Given the description of an element on the screen output the (x, y) to click on. 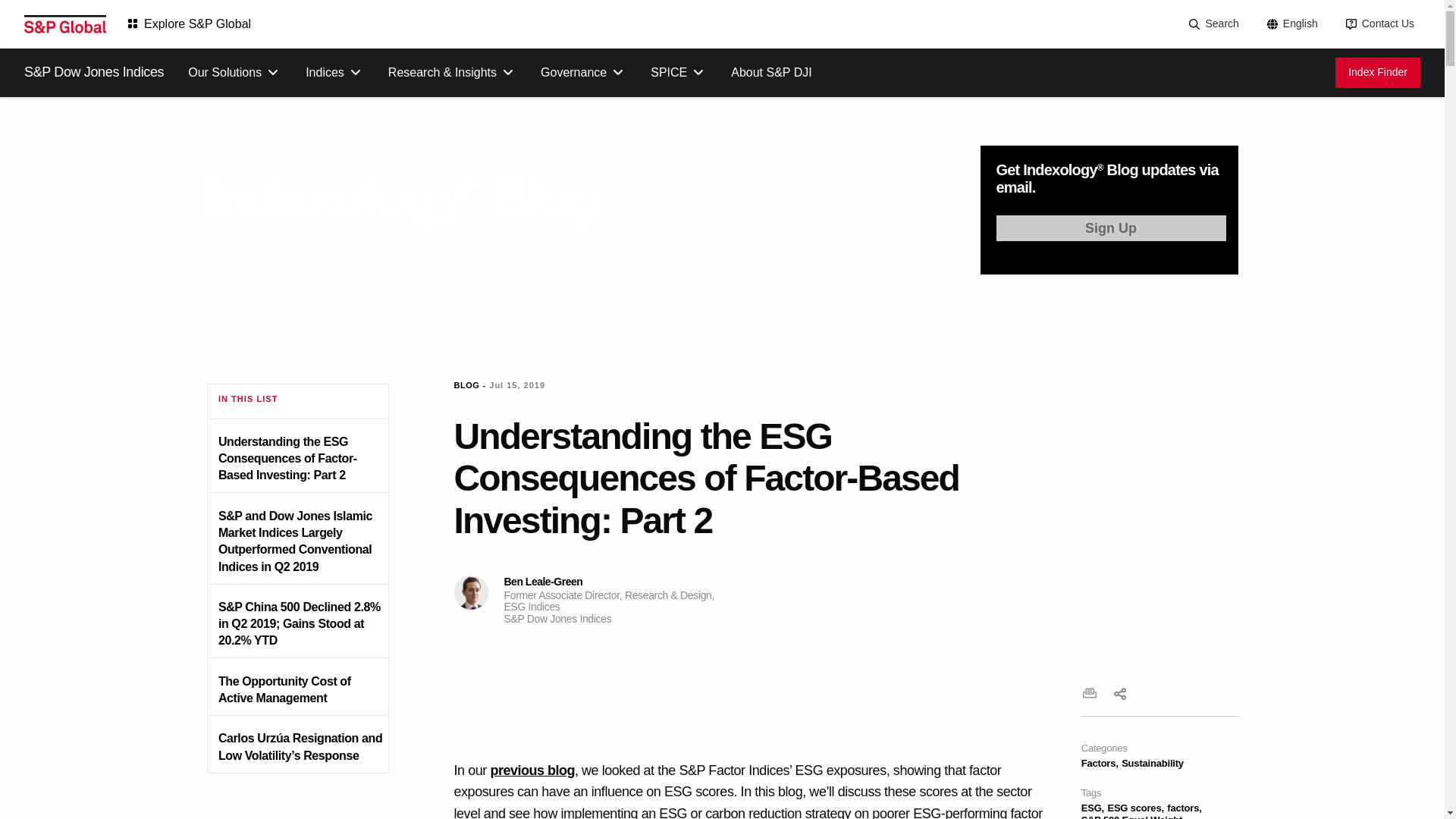
English (1290, 24)
Search (1211, 24)
Ben Leale-Green (469, 592)
View all posts in Factors (1099, 763)
Contact Us (1378, 24)
View all posts in Sustainability (1152, 763)
